Given the description of an element on the screen output the (x, y) to click on. 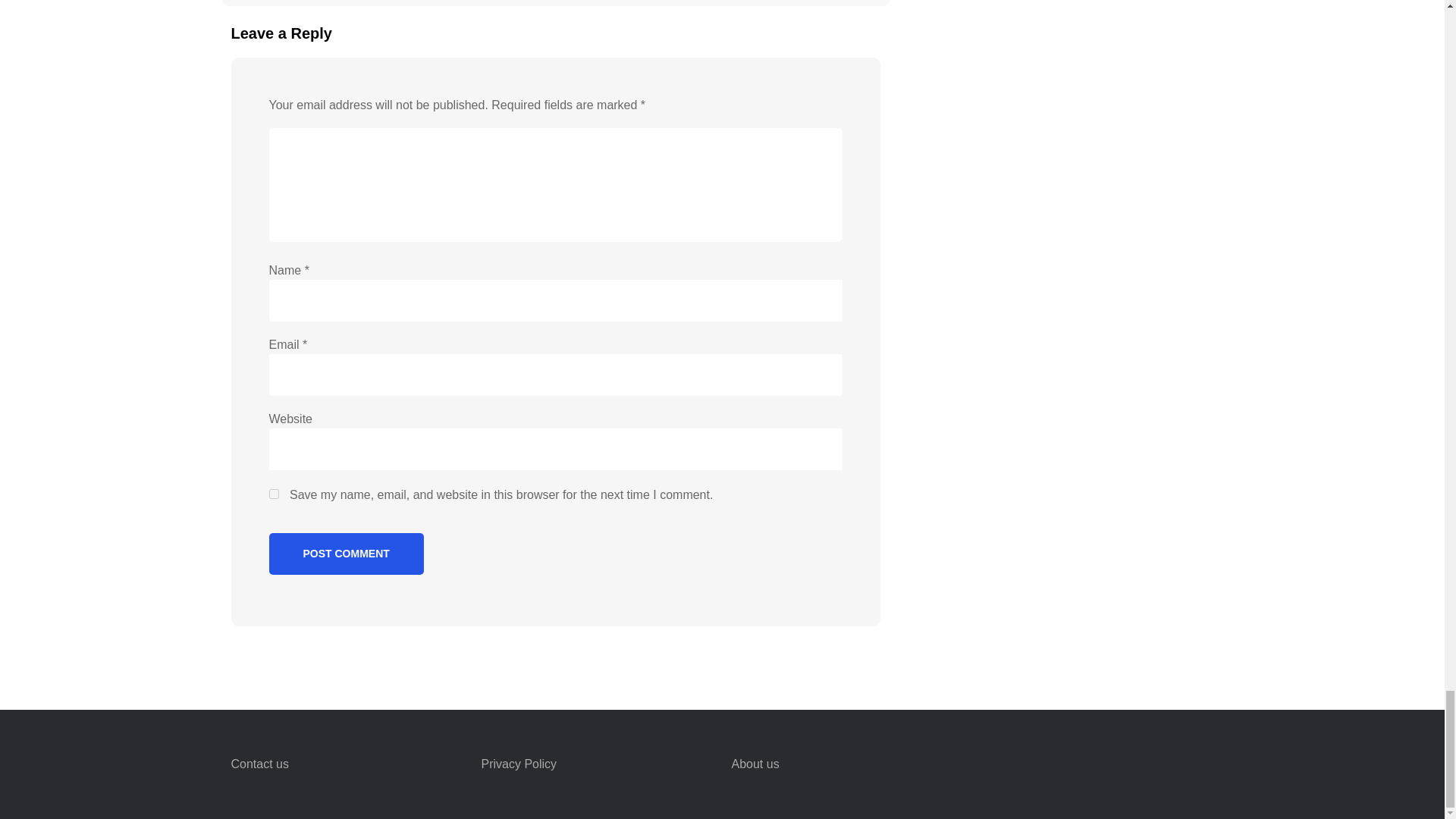
Privacy Policy (518, 764)
About us (754, 764)
Contact us (259, 764)
yes (272, 493)
Contact us (259, 764)
Privacy Policy (518, 764)
Post Comment (345, 553)
About us (754, 764)
Post Comment (345, 553)
